Given the description of an element on the screen output the (x, y) to click on. 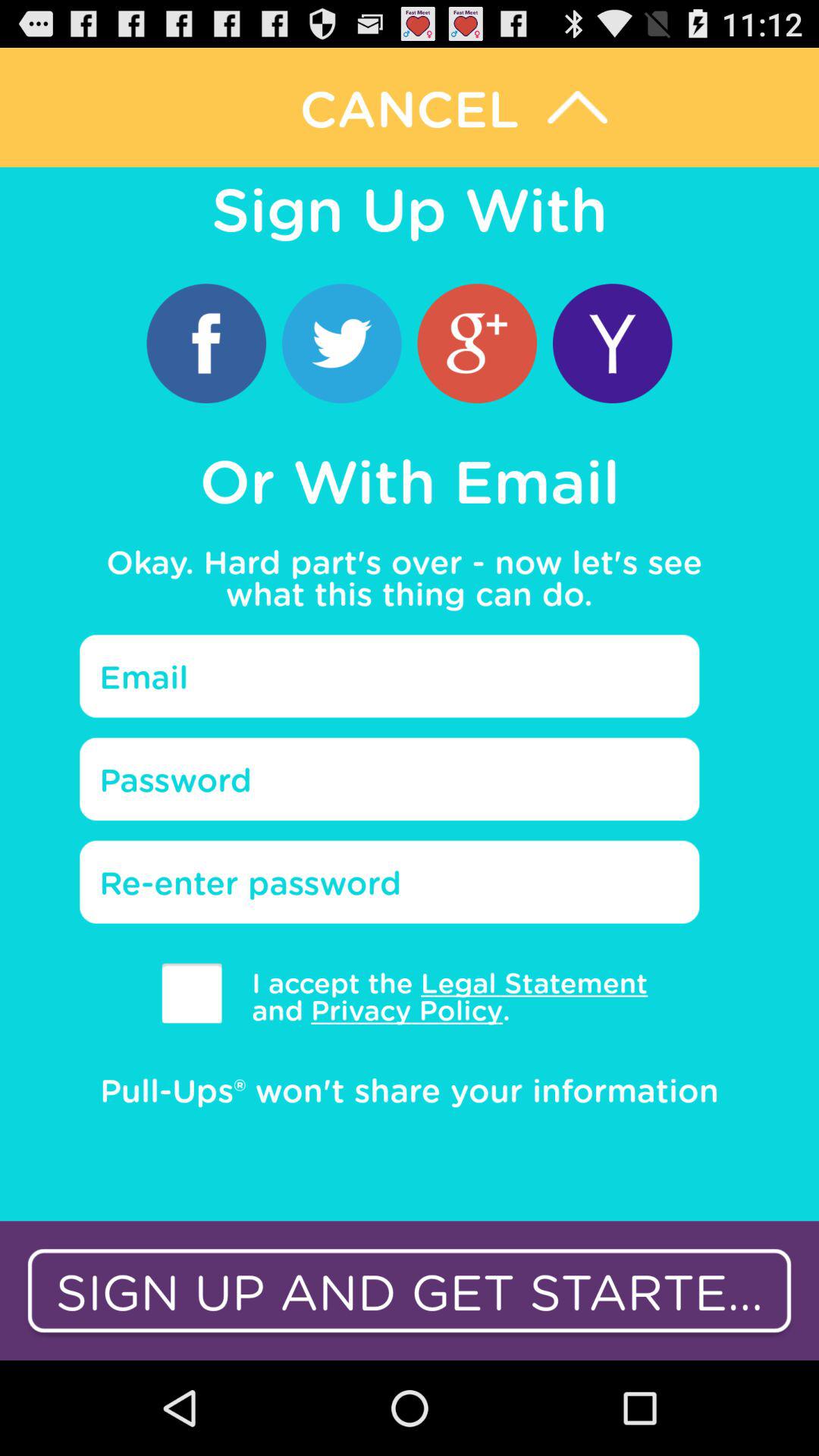
login with twitter (341, 343)
